Given the description of an element on the screen output the (x, y) to click on. 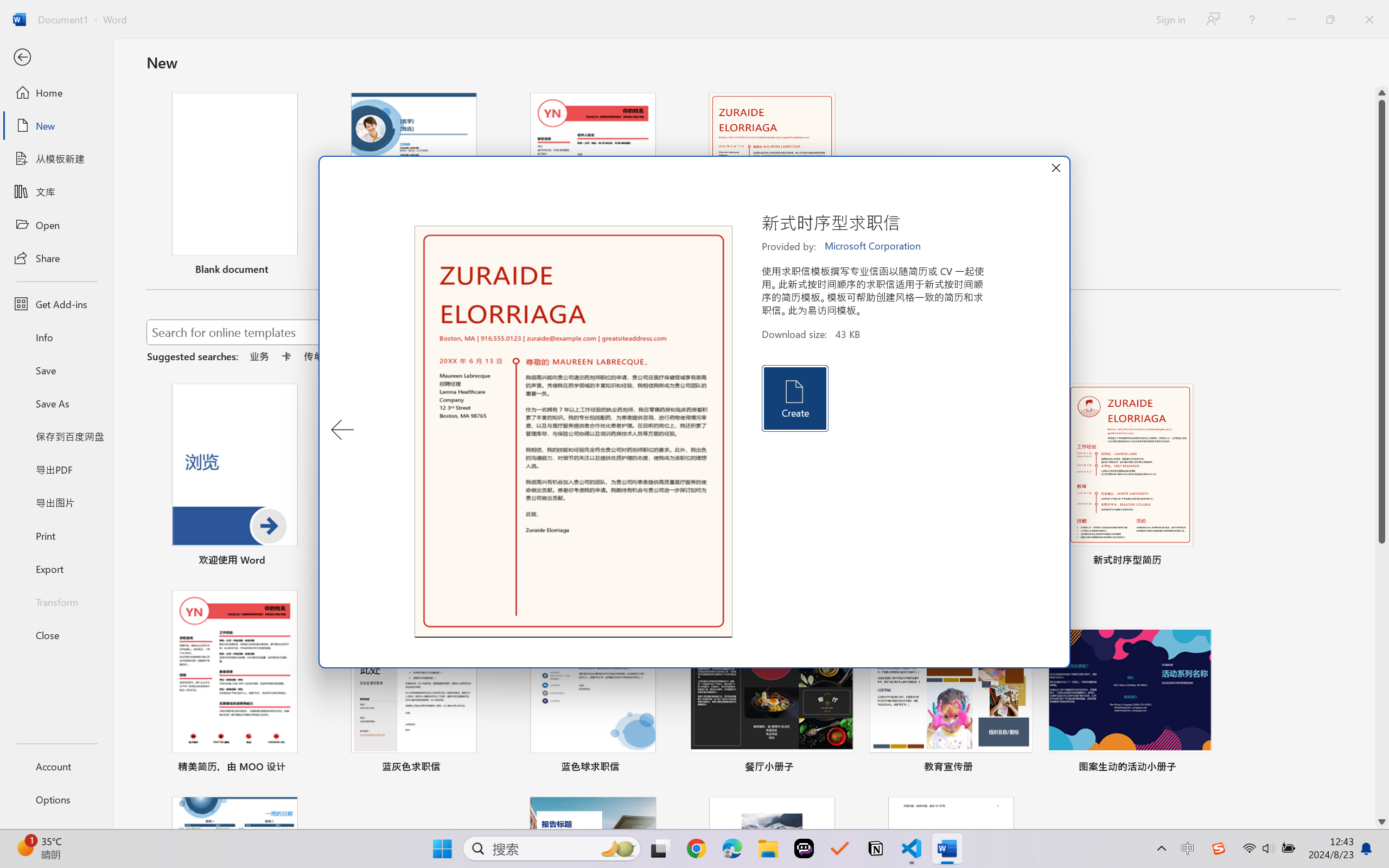
Microsoft Corporation (873, 246)
New (56, 125)
Back (56, 57)
Page down (1382, 679)
Get Add-ins (56, 303)
Options (56, 798)
